Given the description of an element on the screen output the (x, y) to click on. 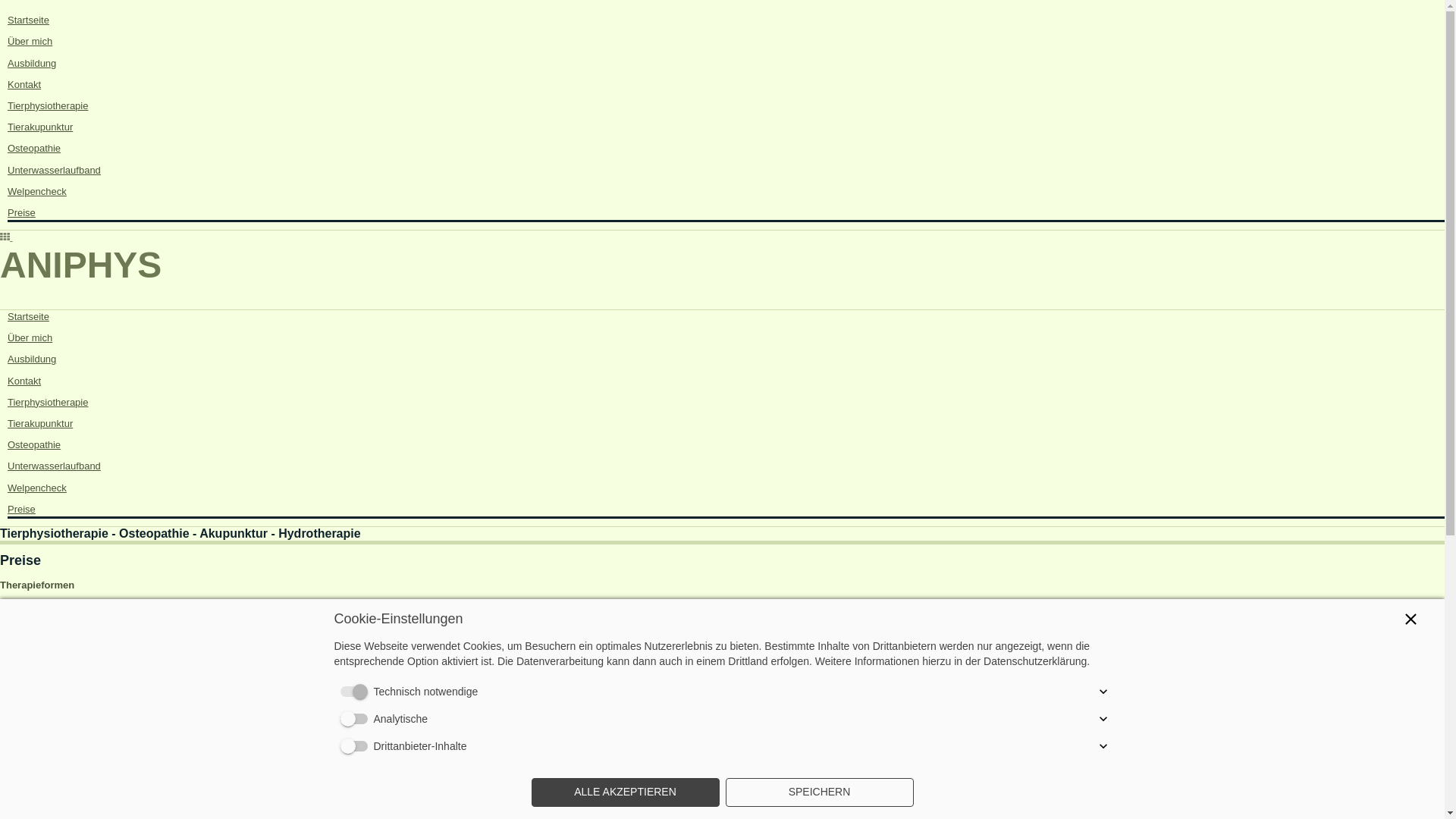
Ausbildung Element type: text (31, 63)
Preise Element type: text (21, 212)
Preise Element type: text (21, 508)
Osteopathie Element type: text (33, 444)
Ausbildung Element type: text (31, 358)
Tierakupunktur Element type: text (39, 126)
Welpencheck Element type: text (36, 487)
Kontakt Element type: text (23, 380)
ALLE AKZEPTIEREN Element type: text (624, 792)
Welpencheck Element type: text (36, 191)
Tierphysiotherapie Element type: text (47, 401)
Osteopathie Element type: text (33, 147)
Tierphysiotherapie Element type: text (47, 105)
  Element type: text (6, 236)
Unterwasserlaufband Element type: text (53, 169)
Startseite Element type: text (28, 316)
Startseite Element type: text (28, 19)
Unterwasserlaufband Element type: text (53, 465)
Tierakupunktur Element type: text (39, 423)
SPEICHERN Element type: text (818, 792)
Kontakt Element type: text (23, 84)
